Given the description of an element on the screen output the (x, y) to click on. 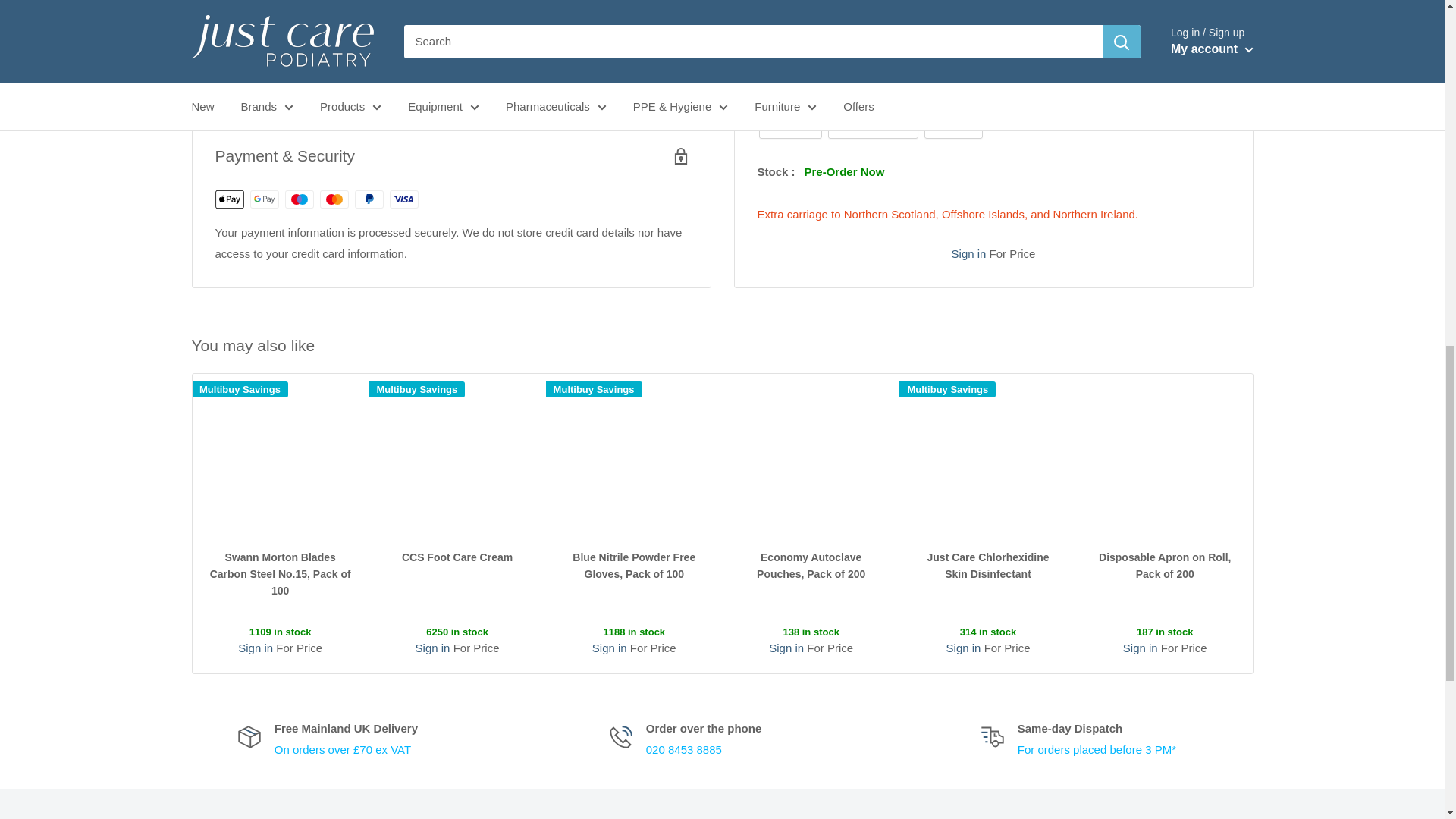
tel:02084538885 (684, 748)
